Given the description of an element on the screen output the (x, y) to click on. 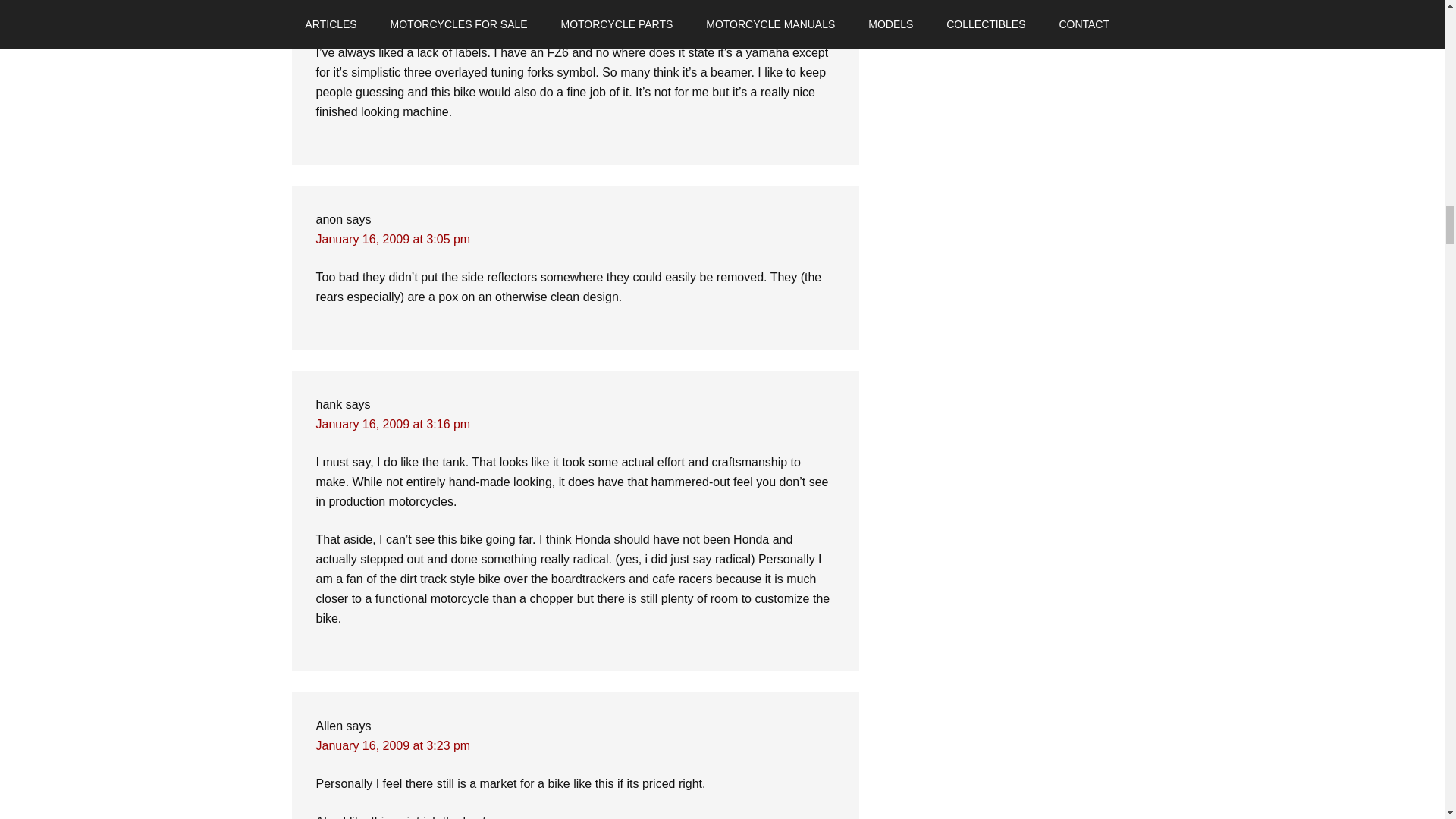
January 16, 2009 at 3:23 pm (392, 745)
January 16, 2009 at 3:16 pm (392, 423)
January 16, 2009 at 3:05 pm (392, 238)
January 16, 2009 at 2:34 pm (392, 14)
